Given the description of an element on the screen output the (x, y) to click on. 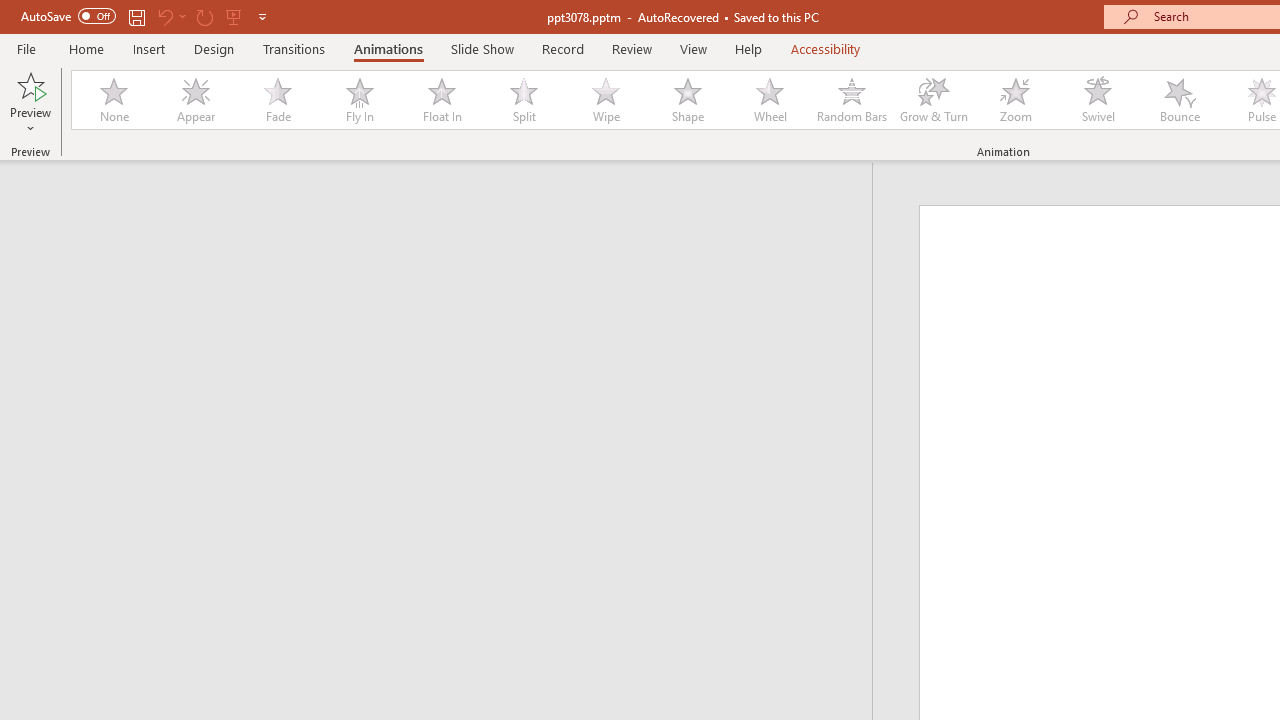
Float In (441, 100)
Outline (445, 202)
